Given the description of an element on the screen output the (x, y) to click on. 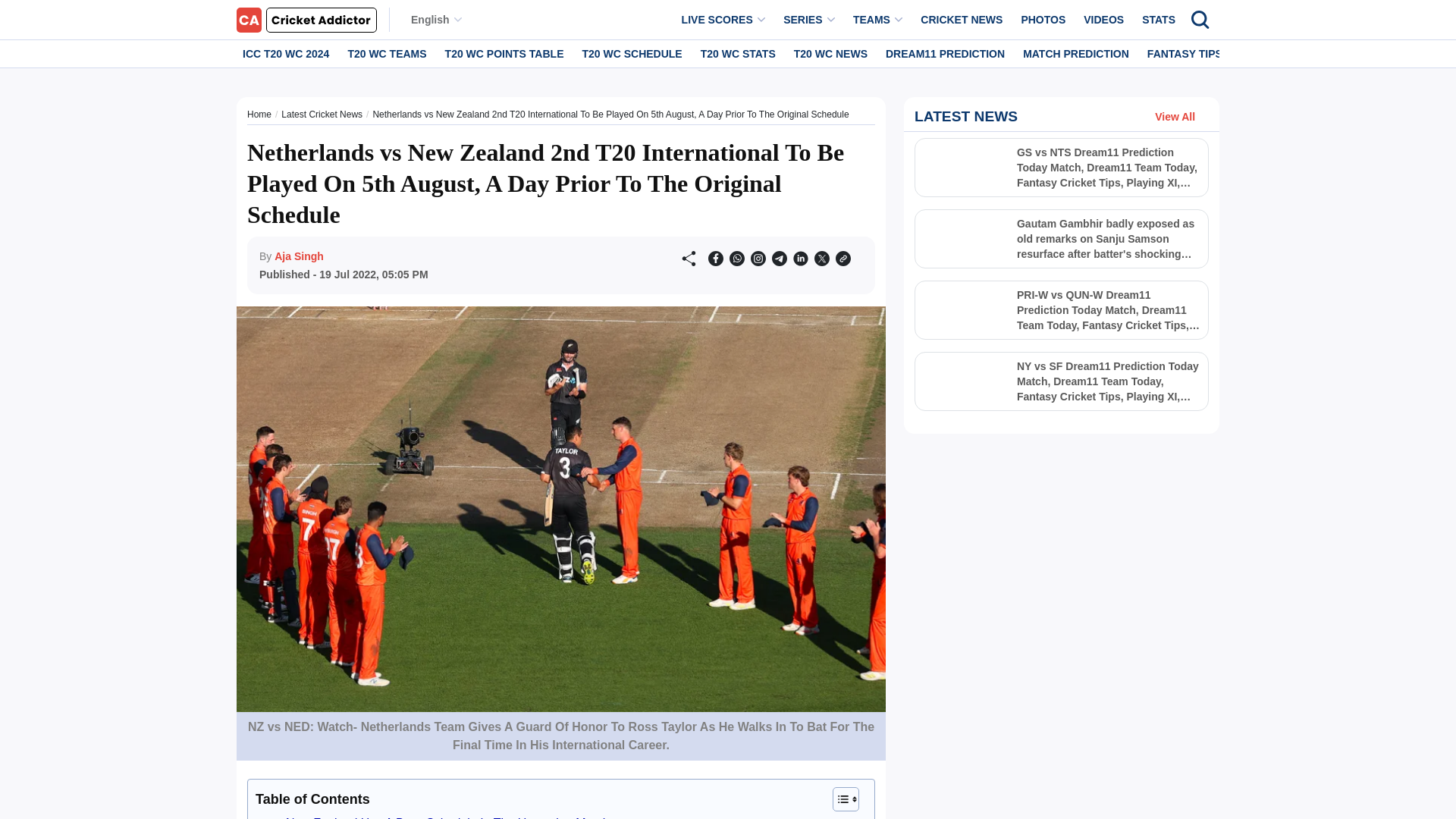
T20 WC TEAMS (386, 53)
English (435, 19)
TEAMS (877, 19)
VIDEOS (1103, 19)
ICC T20 WC 2024 (284, 53)
T20 WC POINTS TABLE (504, 53)
CRICKET NEWS (961, 19)
LIVE SCORES (723, 19)
STATS (1157, 19)
SERIES (809, 19)
PHOTOS (1042, 19)
